Given the description of an element on the screen output the (x, y) to click on. 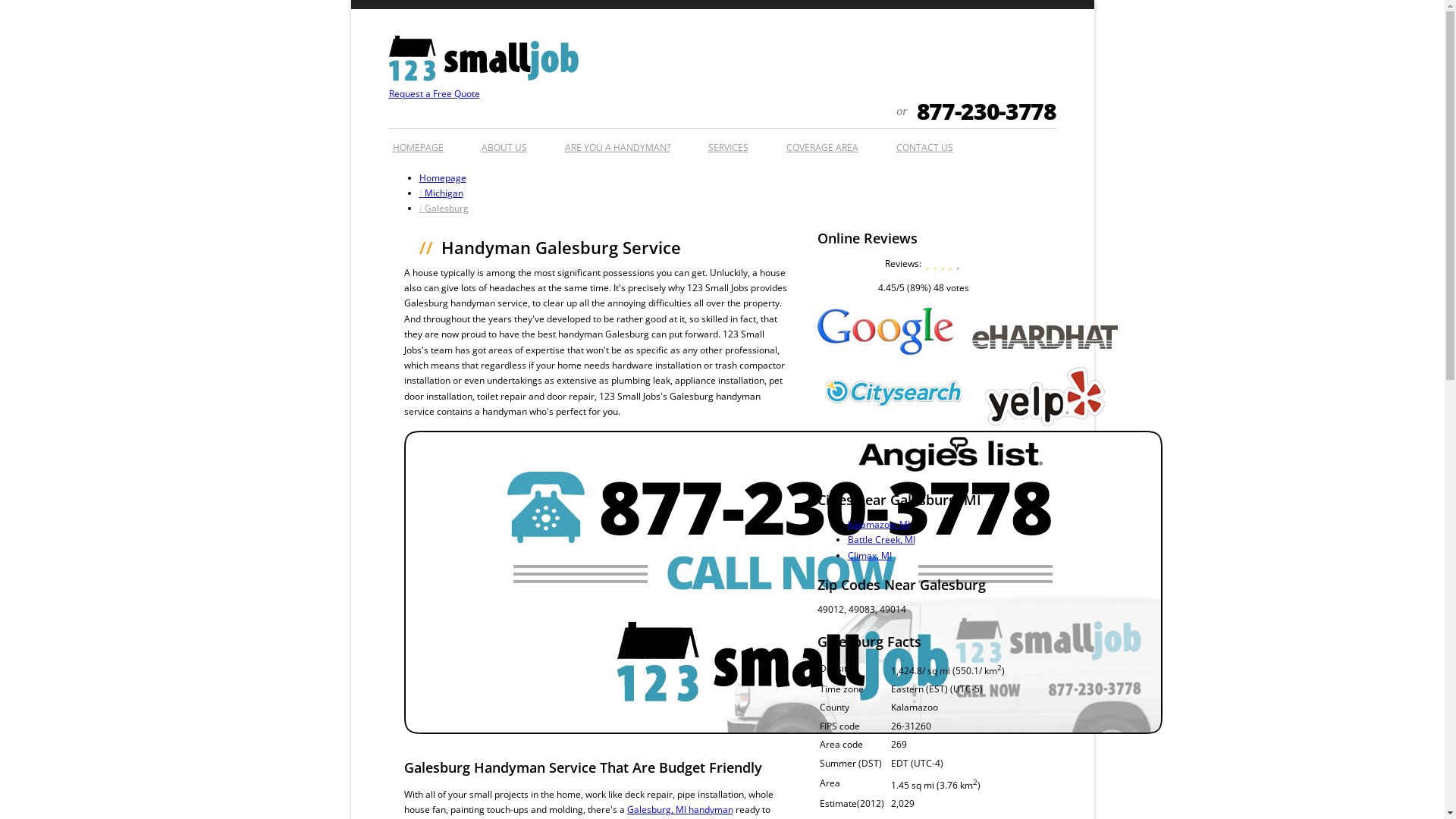
Galesburg Element type: text (442, 207)
ABOUT US Element type: text (503, 143)
Climax, MI Element type: text (869, 555)
Request a Free Quote Element type: text (433, 93)
Galesburg, MI handyman Element type: text (679, 809)
Battle Creek, MI Element type: text (881, 539)
123 Small Jobs Element type: hover (482, 77)
Michigan Element type: text (440, 192)
Kalamazoo, MI Element type: text (878, 523)
COVERAGE AREA Element type: text (822, 143)
HOMEPAGE Element type: text (417, 143)
ARE YOU A HANDYMAN? Element type: text (617, 143)
Homepage Element type: text (441, 177)
CONTACT US Element type: text (923, 143)
SERVICES Element type: text (727, 143)
